Given the description of an element on the screen output the (x, y) to click on. 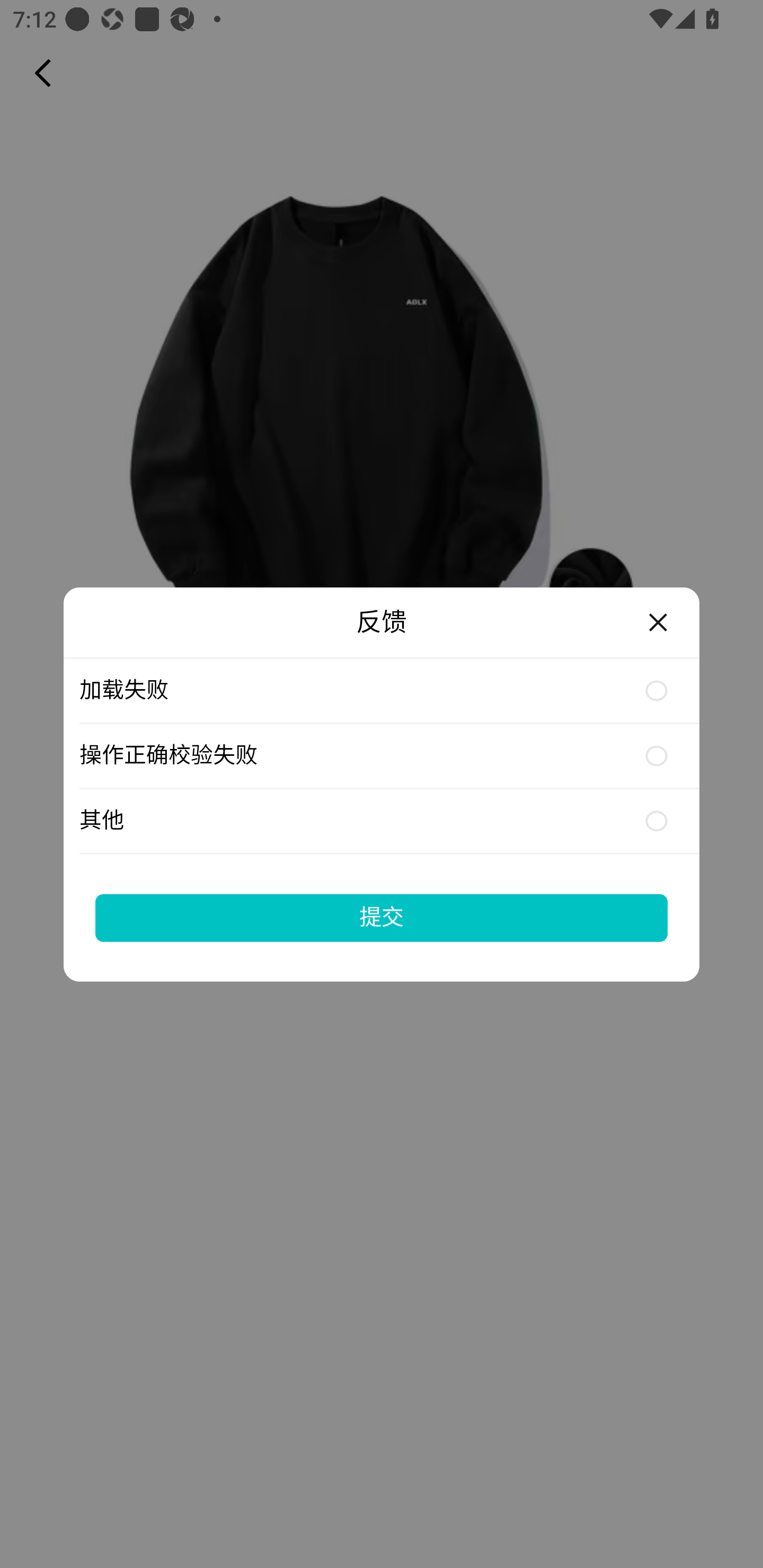
提交 (381, 917)
